Given the description of an element on the screen output the (x, y) to click on. 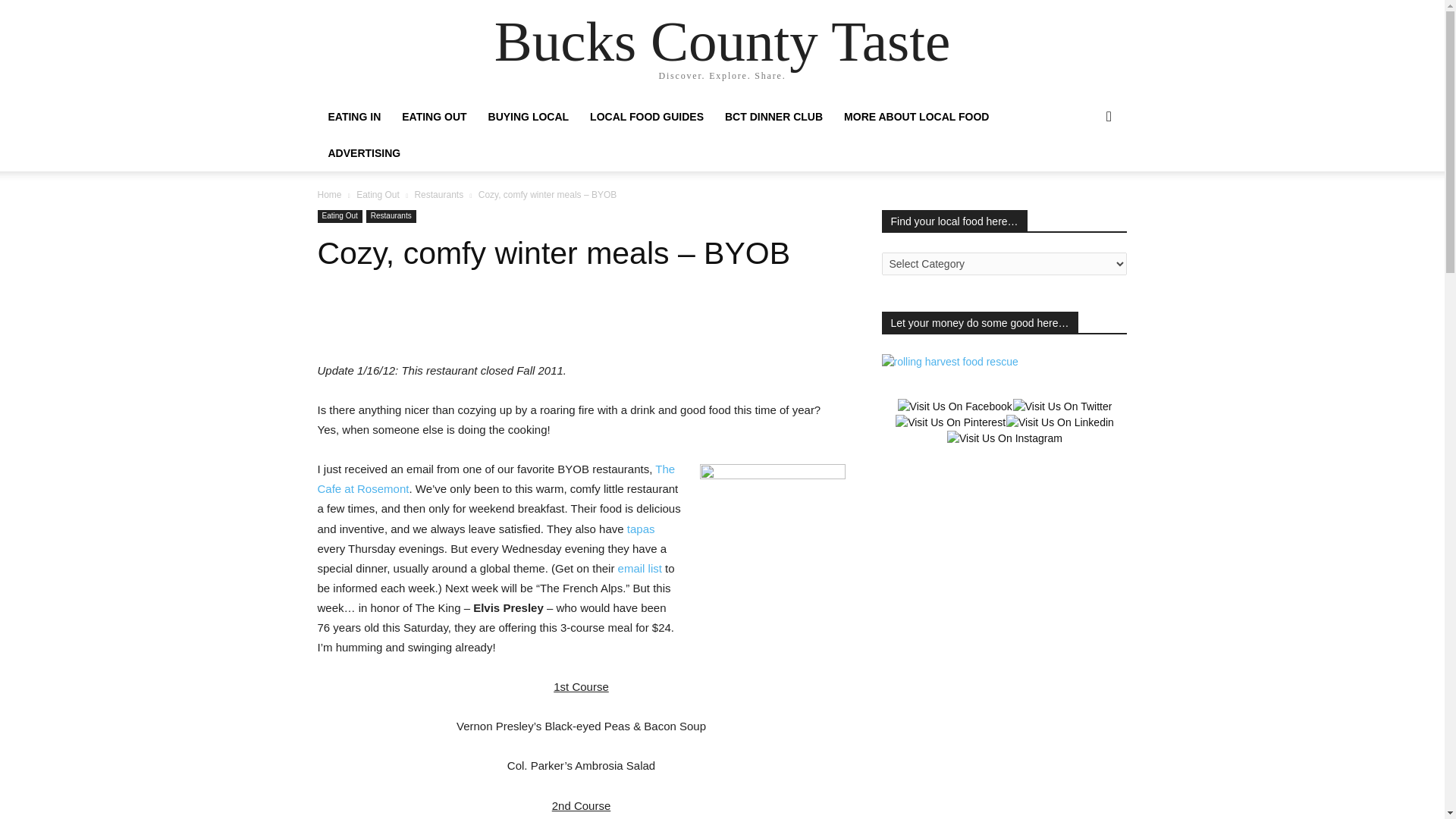
EATING OUT (434, 116)
EATING IN (354, 116)
Bucks County Taste (722, 41)
